Given the description of an element on the screen output the (x, y) to click on. 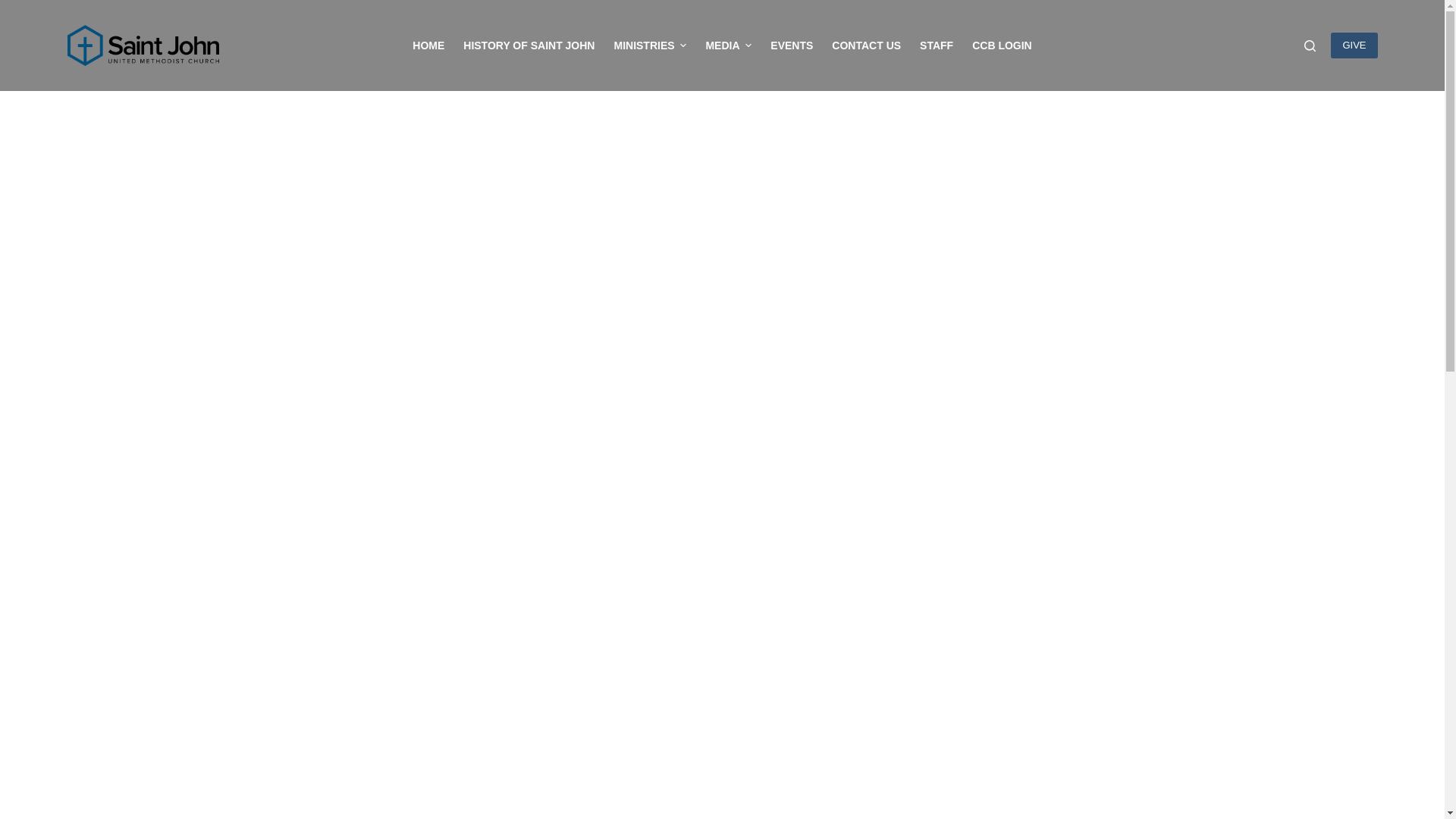
HISTORY OF SAINT JOHN (529, 45)
CONTACT US (866, 45)
Skip to content (15, 7)
MINISTRIES (649, 45)
